Given the description of an element on the screen output the (x, y) to click on. 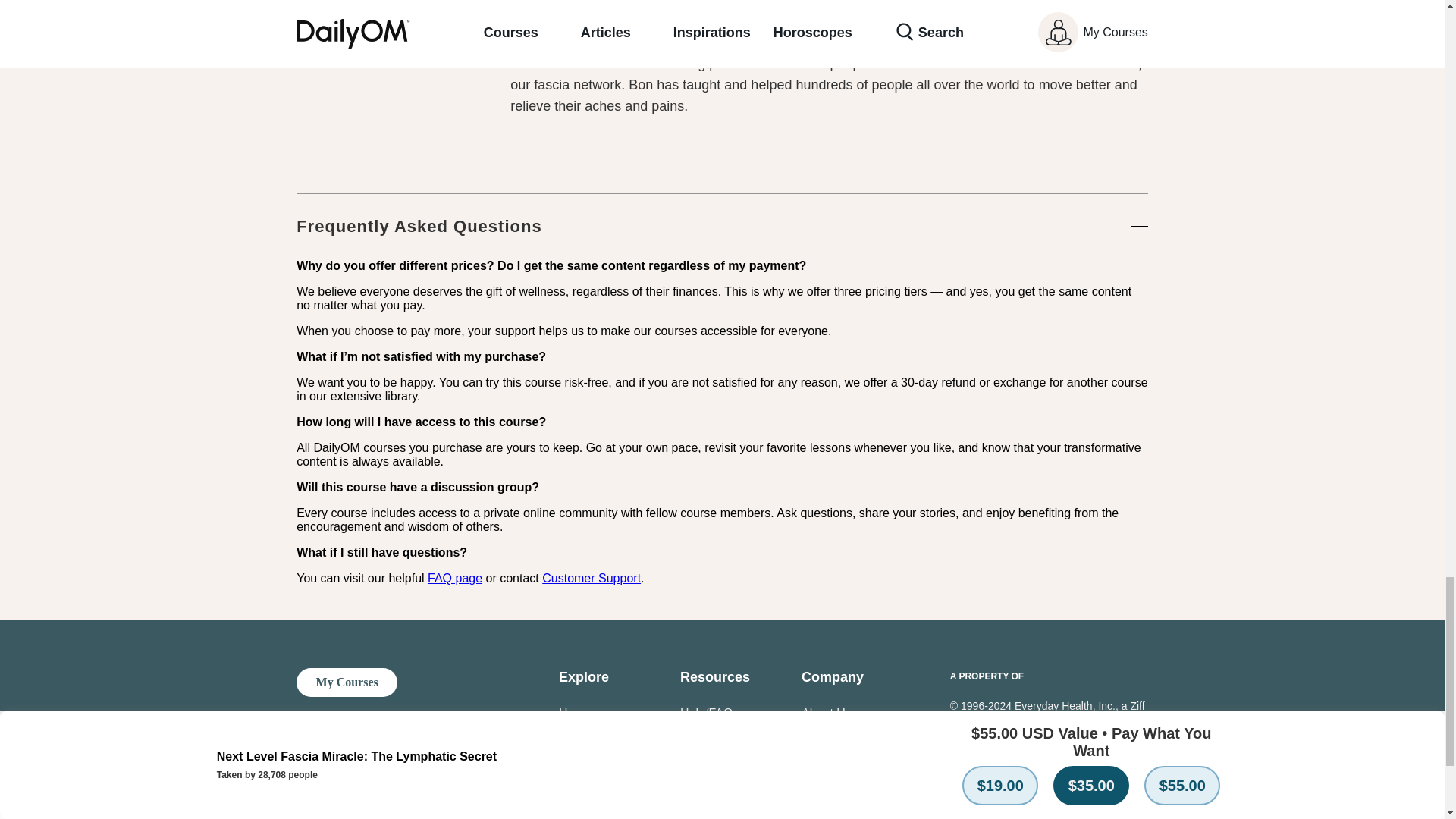
About Us (826, 712)
FAQ page (454, 577)
Inspirations (590, 767)
Customer Support (590, 577)
Subscribe (585, 817)
Yes or No Tarot (600, 739)
Articles (578, 794)
Horoscopes (591, 712)
Do Not Sell My Personal Information (842, 785)
Privacy Policy (717, 812)
